Given the description of an element on the screen output the (x, y) to click on. 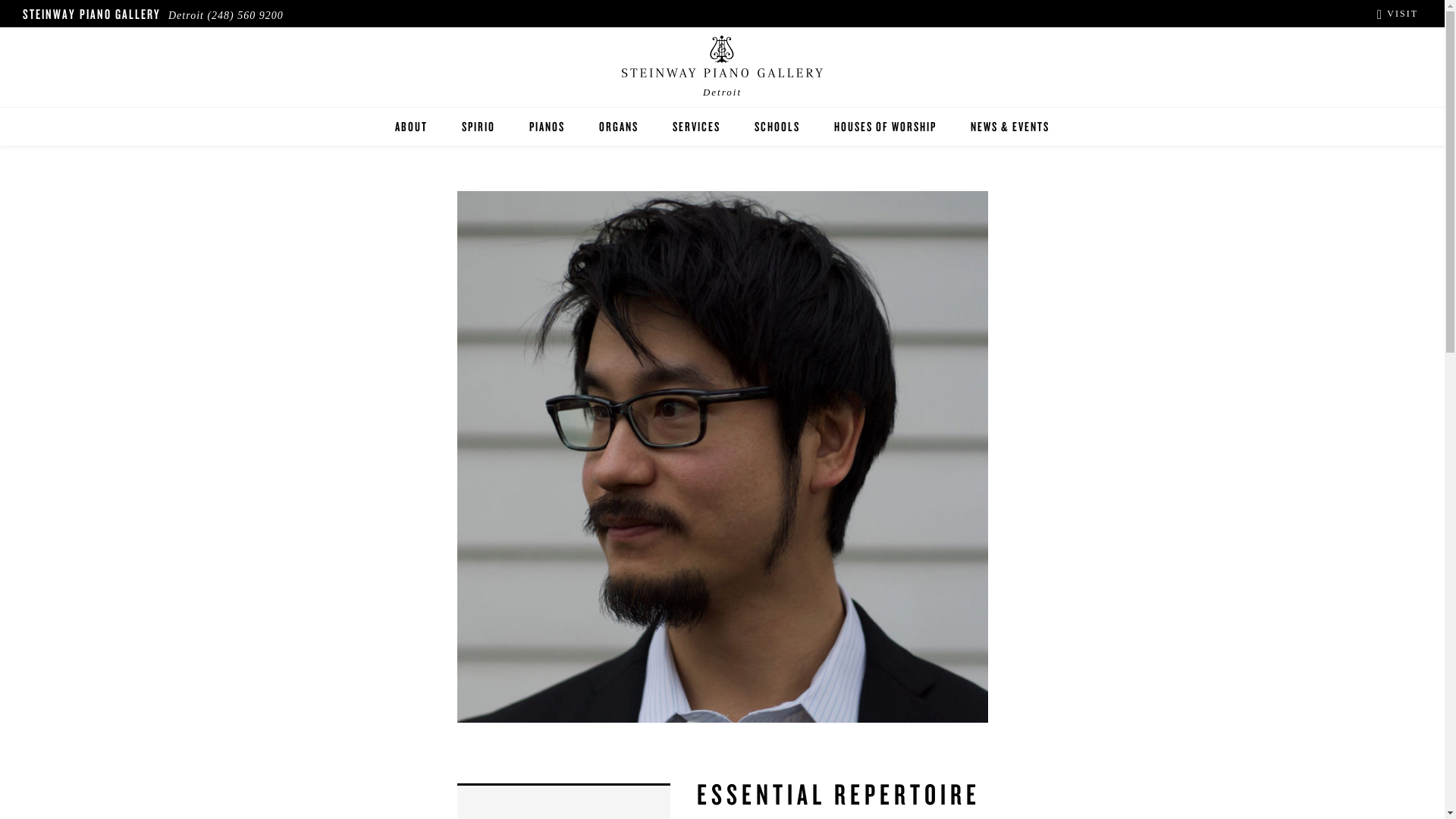
SCHOOLS (776, 126)
Detroit (721, 70)
HOUSES OF WORSHIP (885, 126)
VISIT (1397, 13)
PIANOS (546, 126)
ORGANS (618, 126)
SERVICES (696, 126)
